Given the description of an element on the screen output the (x, y) to click on. 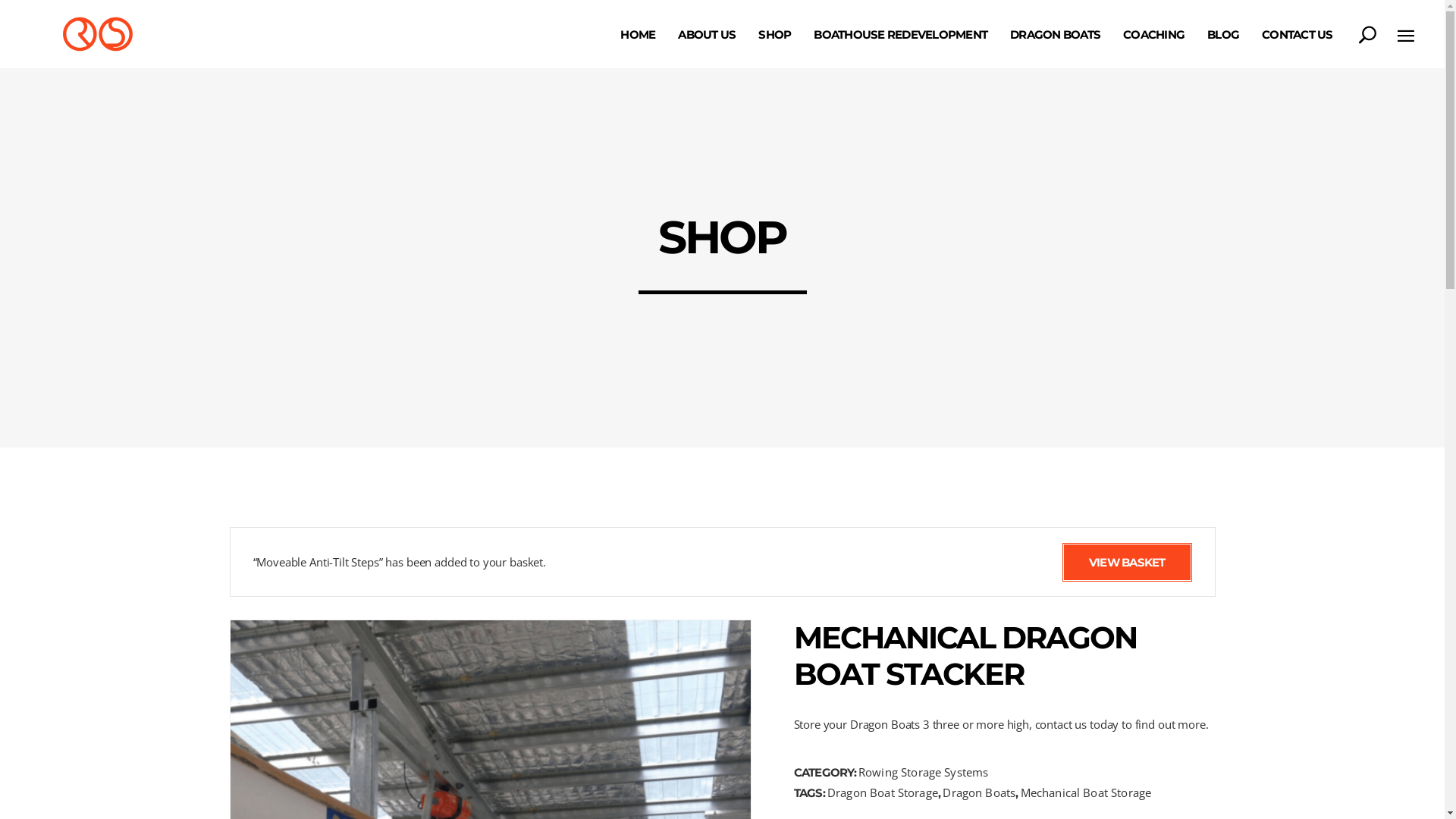
Mechanical Boat Storage Element type: text (1085, 792)
SHOP Element type: text (774, 34)
Dragon Boats Element type: text (978, 792)
DRAGON BOATS Element type: text (1054, 34)
BOATHOUSE REDEVELOPMENT Element type: text (900, 34)
Dragon Boat Storage Element type: text (882, 792)
CONTACT US Element type: text (1297, 34)
COACHING Element type: text (1153, 34)
Rowing Storage Systems Element type: text (923, 771)
HOME Element type: text (637, 34)
ABOUT US Element type: text (706, 34)
VIEW BASKET Element type: text (1126, 562)
BLOG Element type: text (1222, 34)
